Given the description of an element on the screen output the (x, y) to click on. 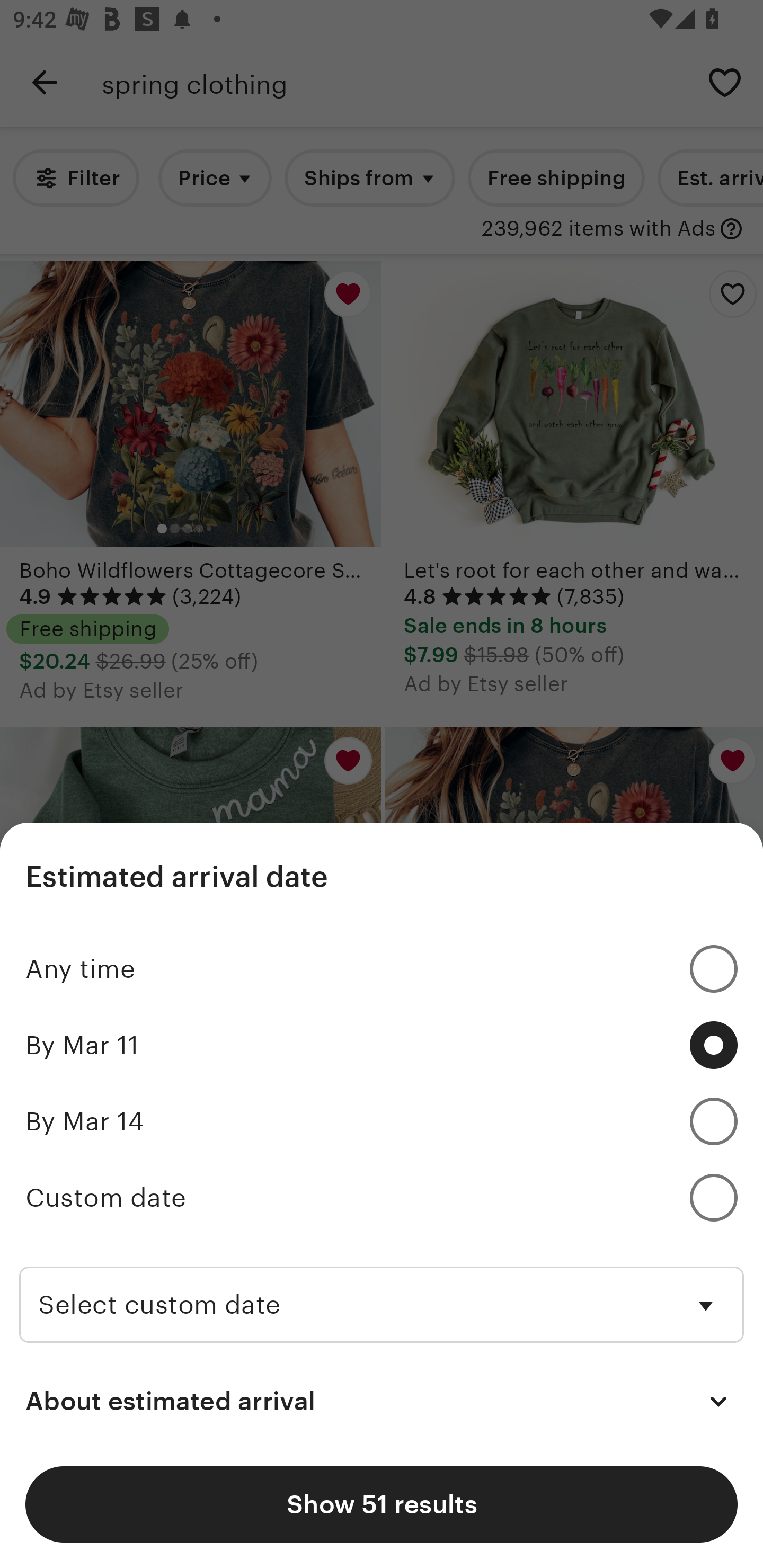
Any time (381, 968)
By Mar 14 (381, 1121)
Custom date (381, 1197)
Select custom date (381, 1288)
About estimated arrival (381, 1401)
Show 51 results (381, 1504)
